Given the description of an element on the screen output the (x, y) to click on. 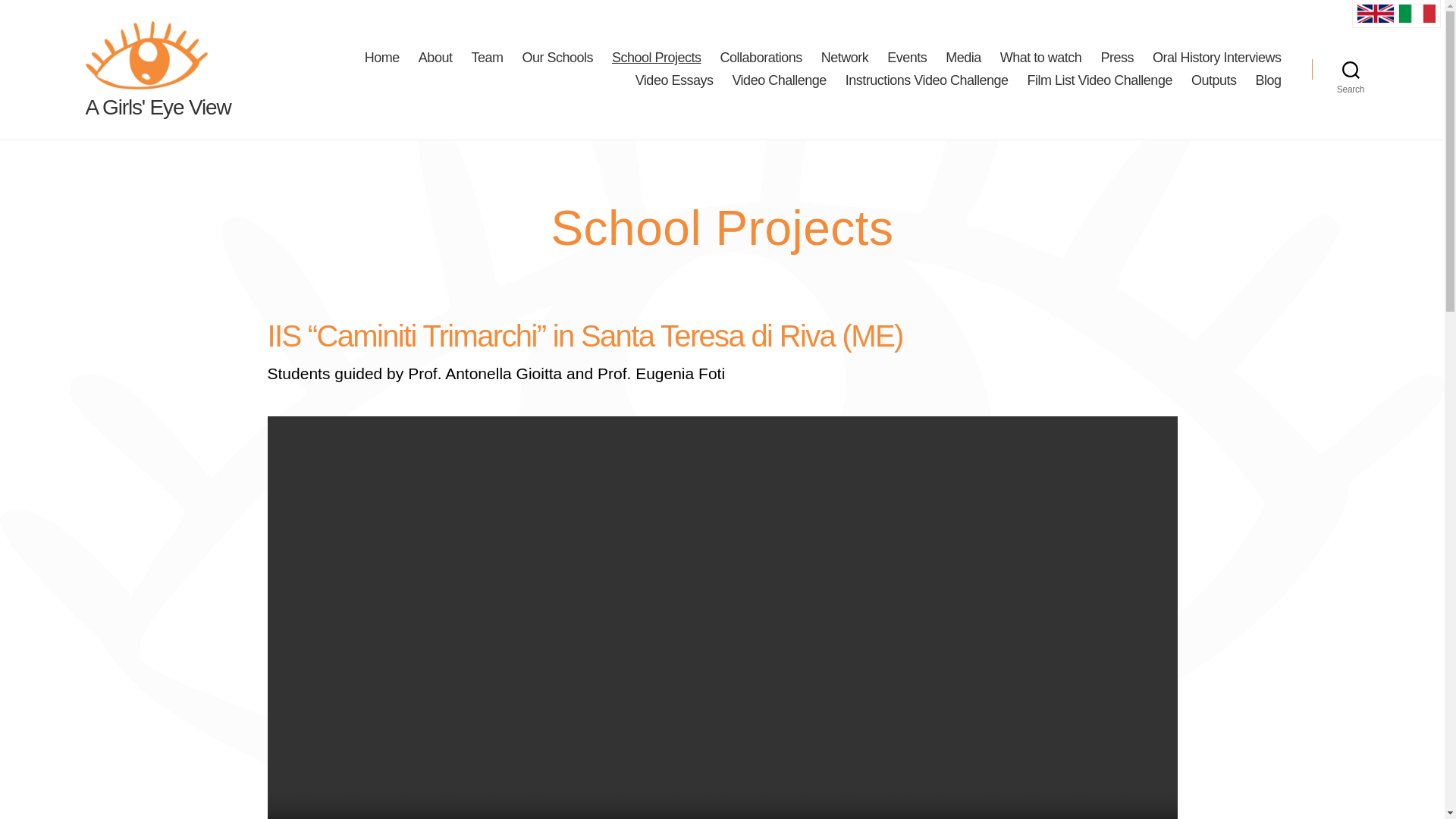
Instructions Video Challenge (927, 80)
Press (1117, 57)
Blog (1268, 80)
What to watch (1040, 57)
About (435, 57)
Outputs (1213, 80)
Video Challenge (778, 80)
Film List Video Challenge (1099, 80)
Home (381, 57)
Oral History Interviews (1217, 57)
